Given the description of an element on the screen output the (x, y) to click on. 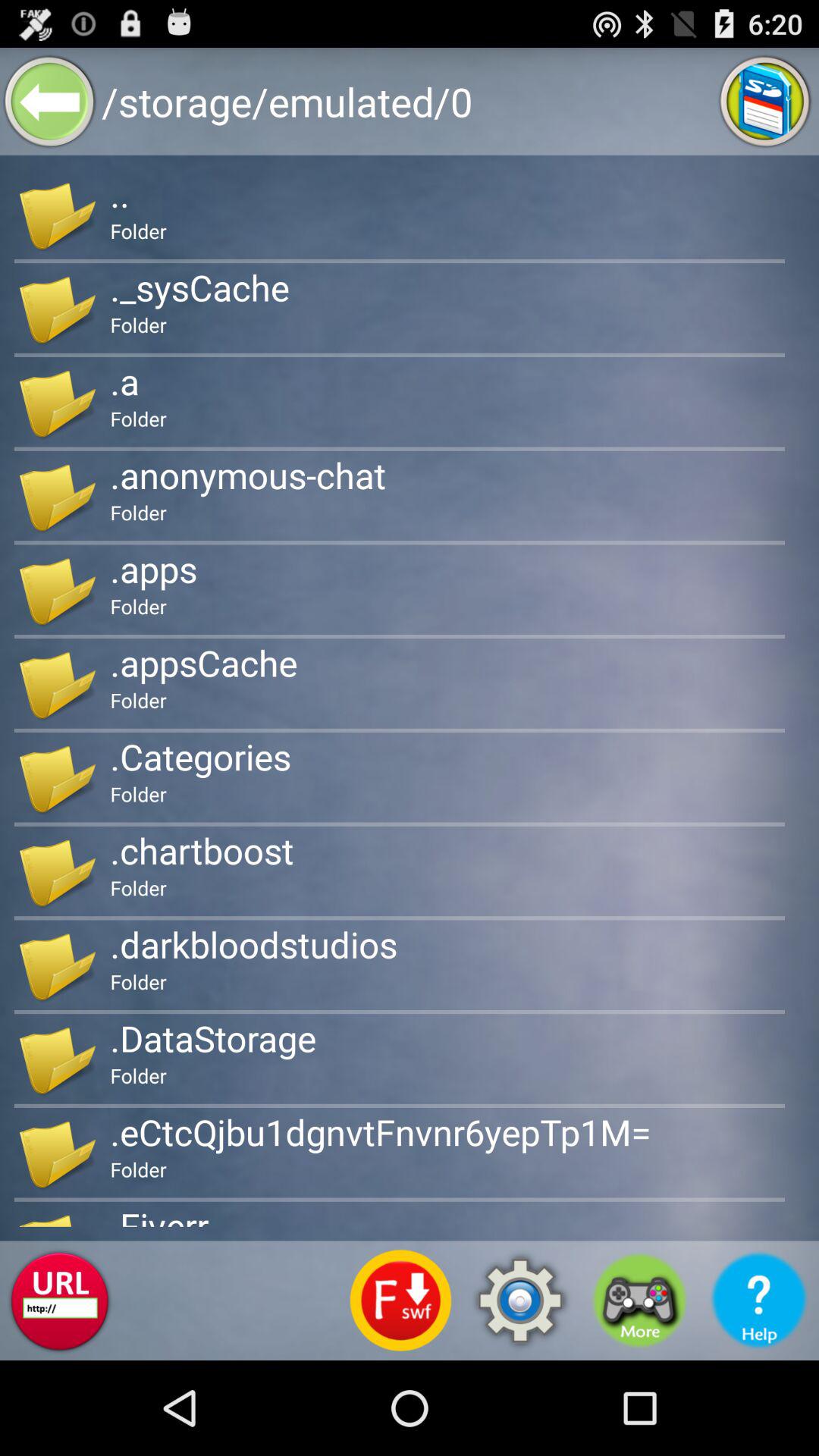
get help (759, 1300)
